Given the description of an element on the screen output the (x, y) to click on. 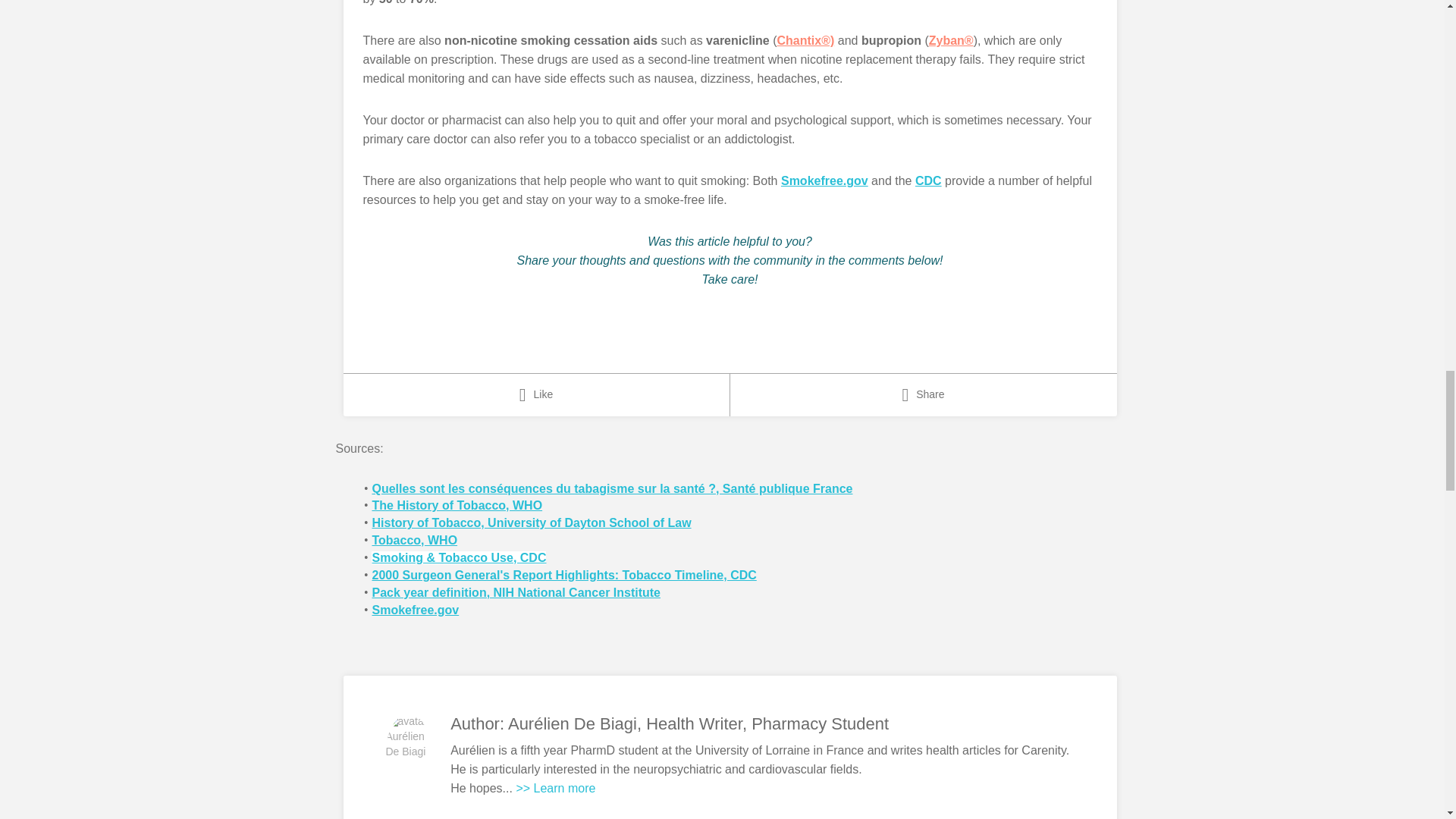
CDC (928, 180)
Like (535, 394)
Share (922, 394)
Smokefree.gov (823, 180)
